Given the description of an element on the screen output the (x, y) to click on. 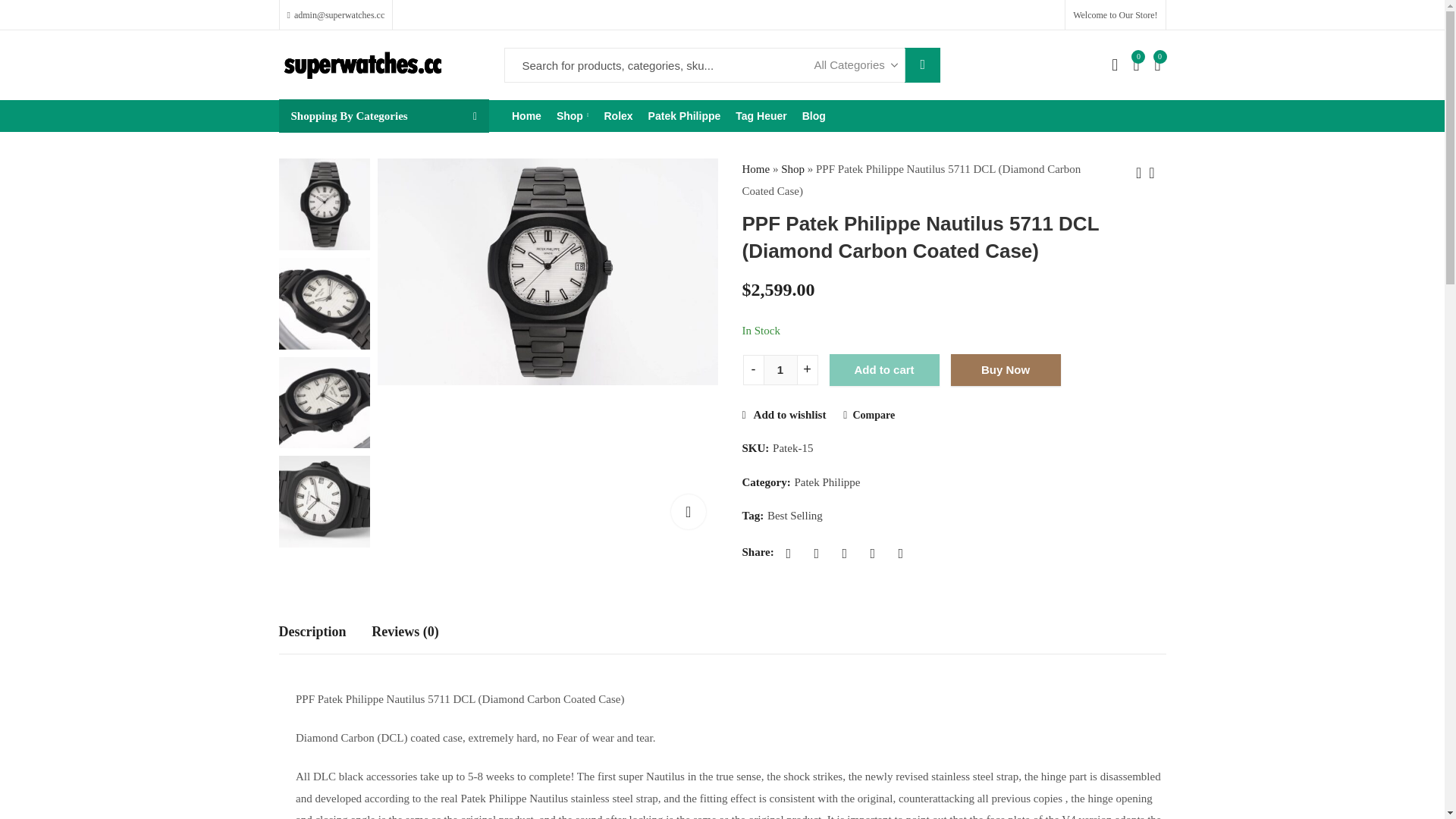
Rolex (617, 115)
patek-philippe-1372-1.jpg (547, 271)
Patek Philippe (684, 115)
Blog (813, 115)
Search (922, 64)
Home (525, 115)
Qty (779, 369)
Shop (572, 115)
Tag Heuer (760, 115)
1 (779, 369)
